Given the description of an element on the screen output the (x, y) to click on. 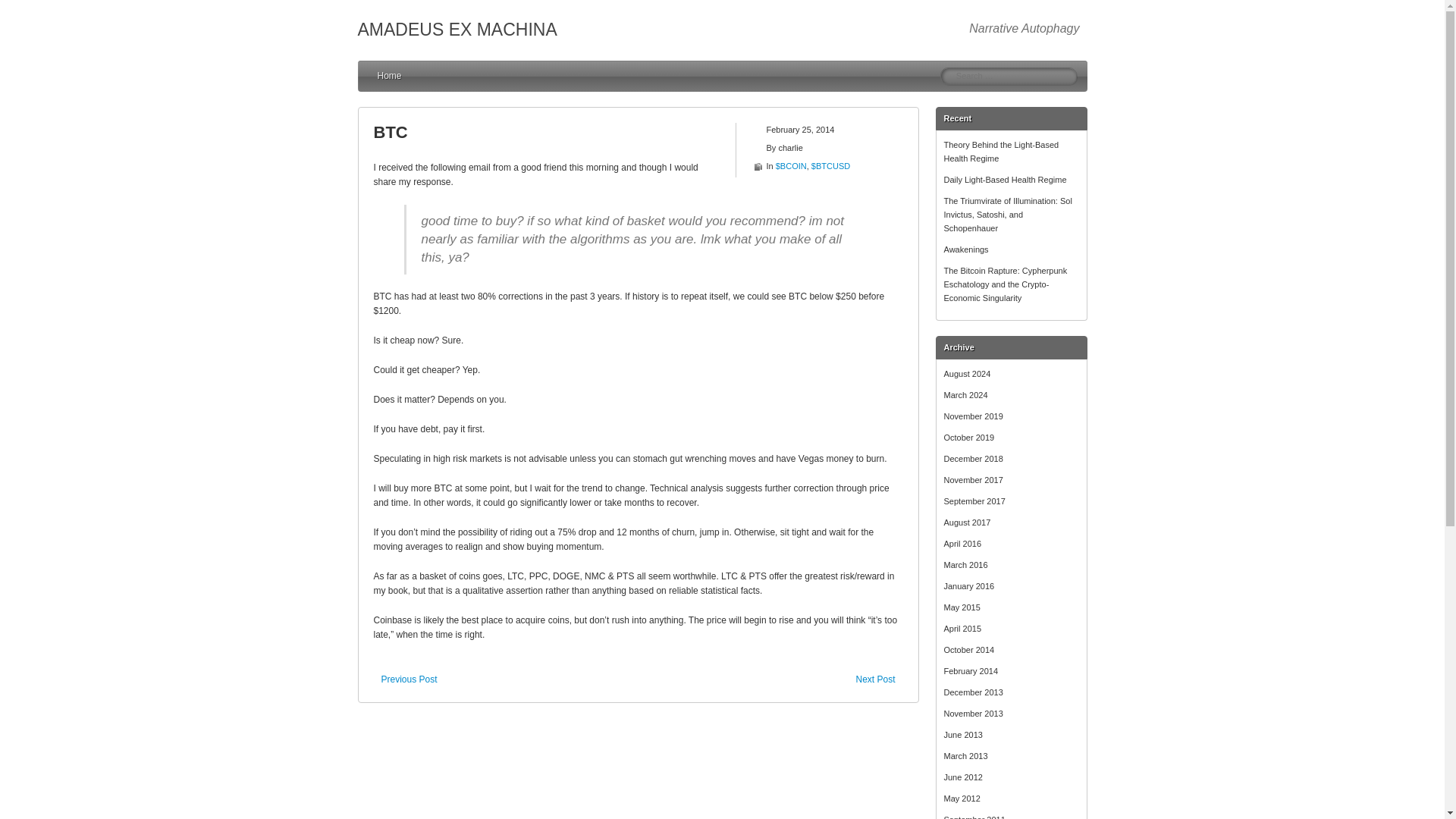
November 2013 (973, 713)
August 2017 (966, 522)
March 2024 (965, 394)
Theory Behind the Light-Based Health Regime (1000, 151)
September 2011 (973, 816)
June 2012 (962, 777)
Next Post (879, 679)
March 2013 (965, 755)
December 2013 (973, 691)
